Given the description of an element on the screen output the (x, y) to click on. 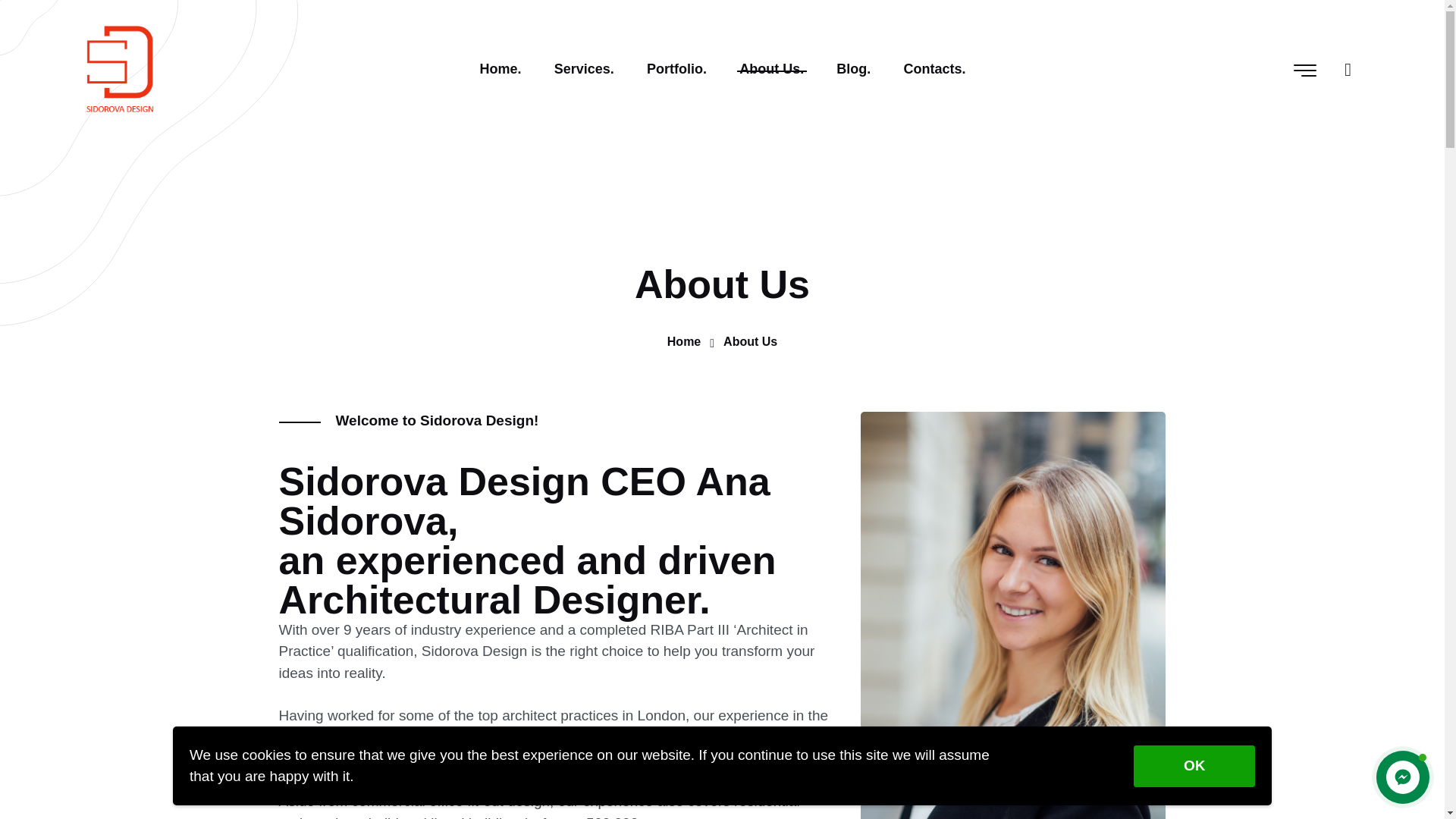
About Us. (772, 69)
Contacts. (933, 69)
Portfolio. (676, 69)
OK (1194, 766)
Home. (500, 69)
Blog. (853, 69)
Home (683, 341)
Services. (583, 69)
